Given the description of an element on the screen output the (x, y) to click on. 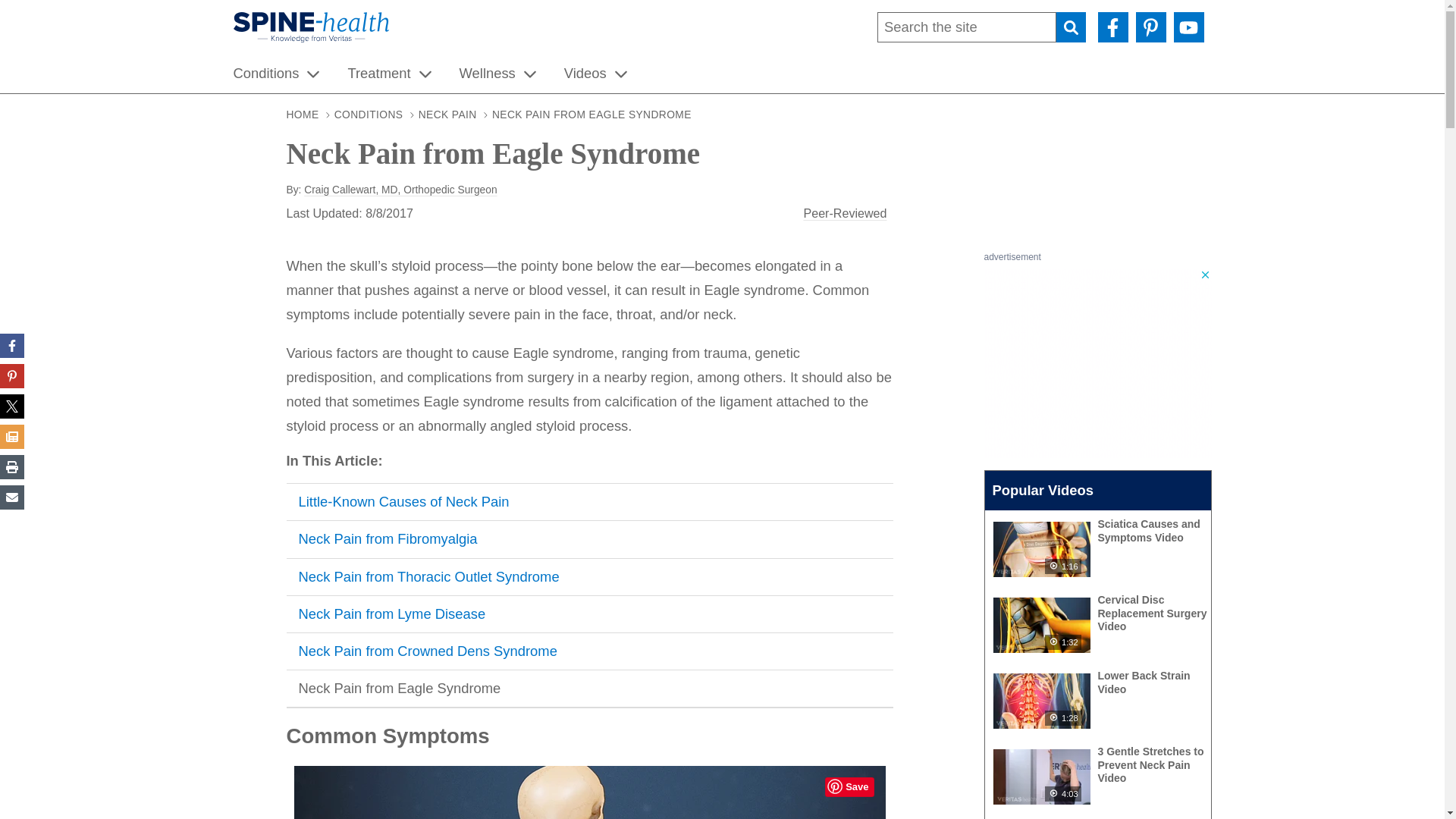
Search (1069, 27)
Conditions (267, 73)
Enter the terms you wish to search for. (967, 27)
Treatment (378, 73)
Spine-health Home (311, 28)
Wellness (487, 73)
3rd party ad content (1097, 362)
